Given the description of an element on the screen output the (x, y) to click on. 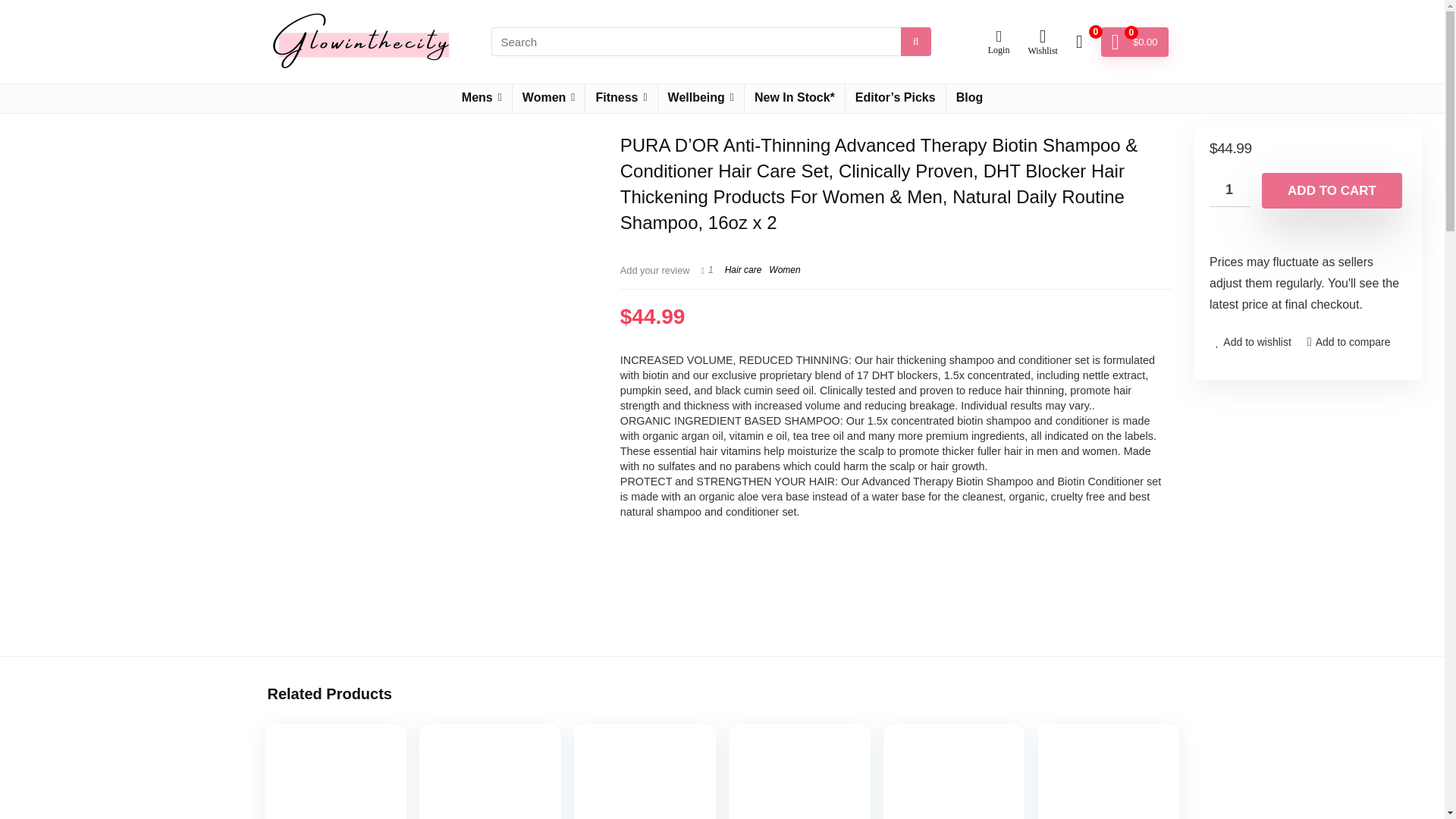
1 (1229, 189)
Blog (969, 98)
Fitness (620, 98)
Women (548, 98)
View all posts in Women (783, 269)
Add your review (655, 270)
Wellbeing (701, 98)
Hair care (743, 269)
Mens (481, 98)
View all posts in Hair care (743, 269)
